Given the description of an element on the screen output the (x, y) to click on. 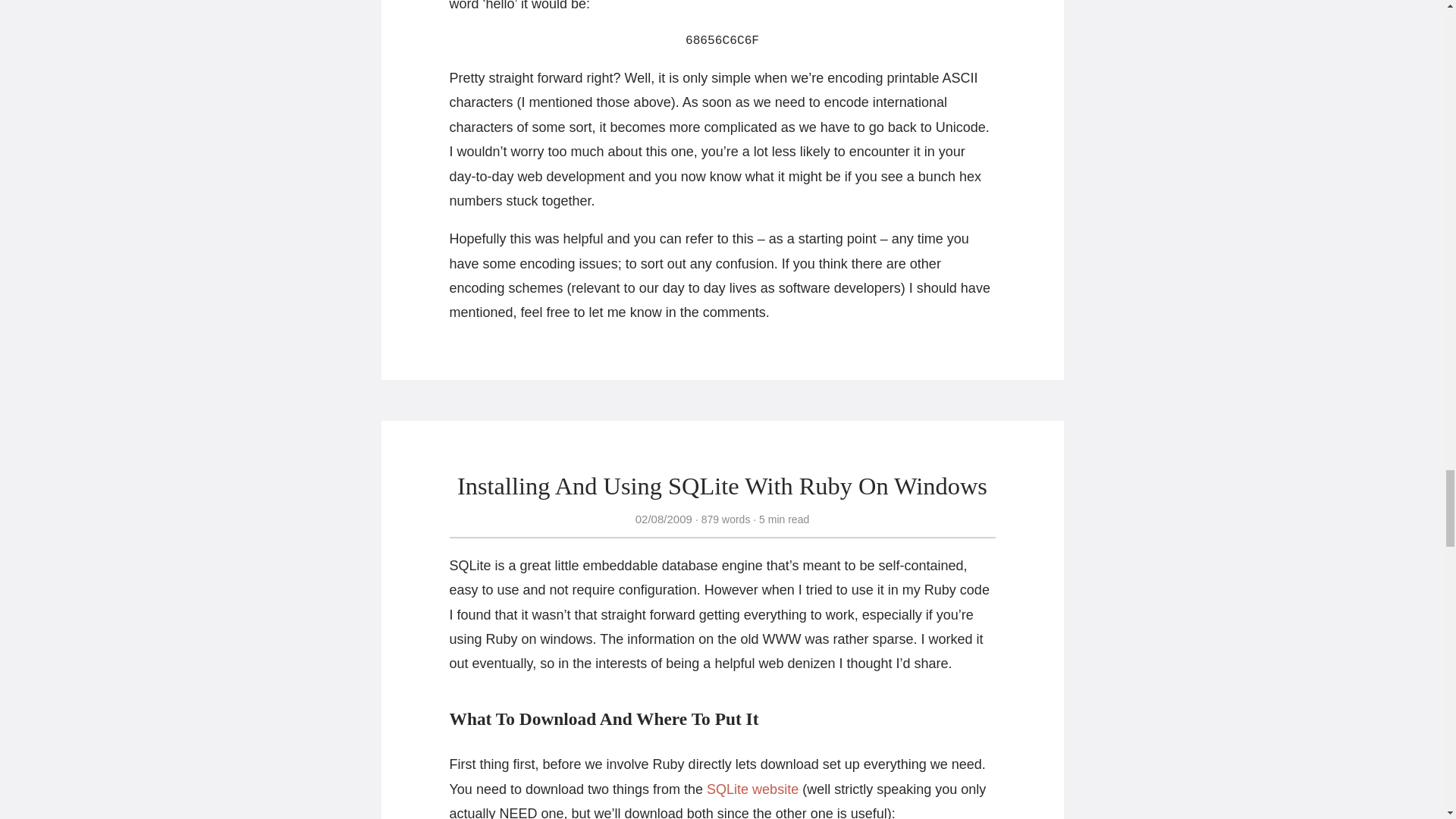
SQLite (751, 789)
Installing And Using SQLite With Ruby On Windows (722, 485)
SQLite website (751, 789)
